Given the description of an element on the screen output the (x, y) to click on. 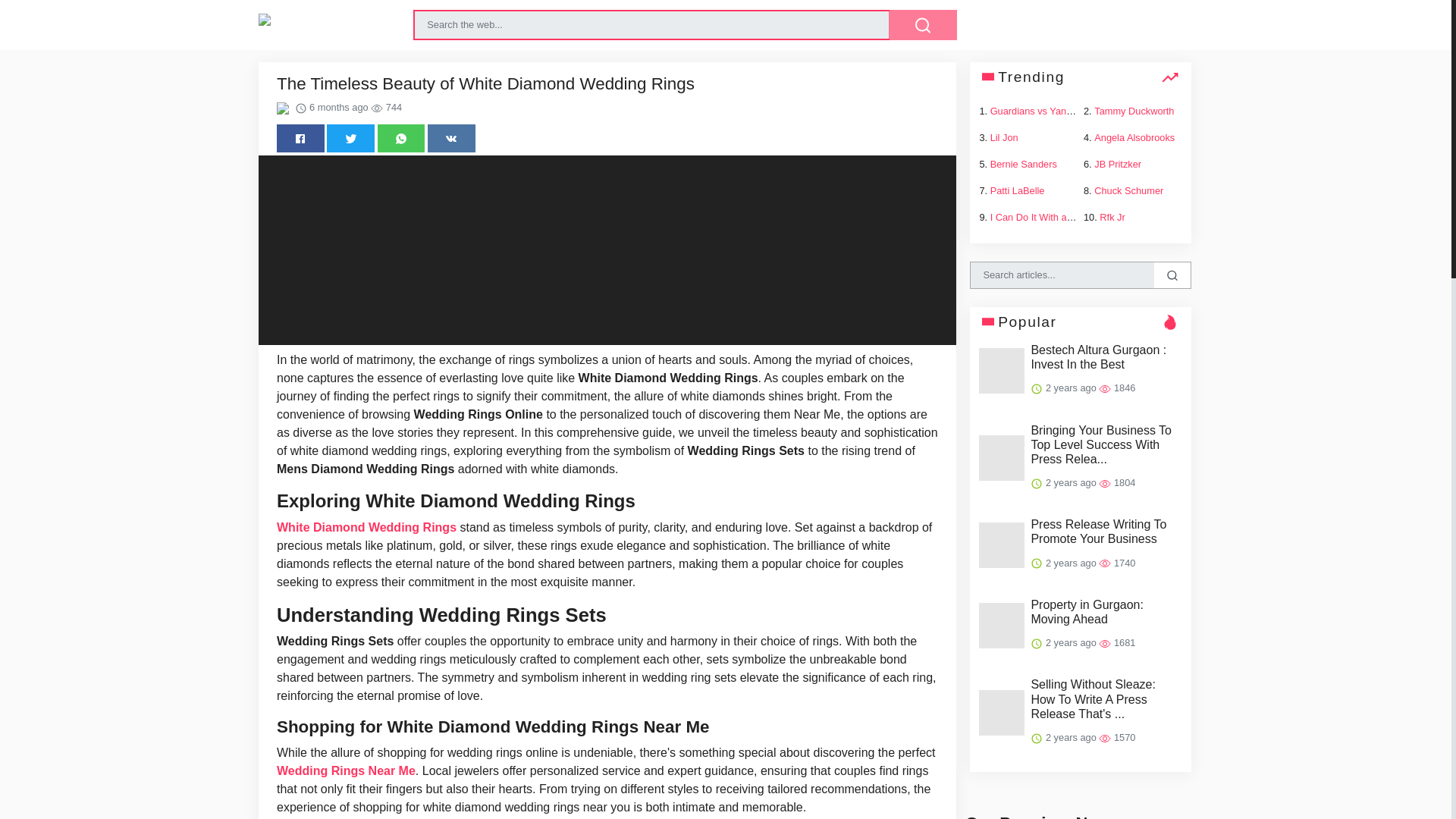
Lil Jon (1003, 137)
Bestech Altura Gurgaon : Invest In the Best (1105, 357)
Share on VK (452, 138)
Wedding Rings Near Me (345, 770)
Tammy Duckworth (1133, 111)
Share on Facebook (300, 138)
White Diamond Wedding Rings (366, 526)
Share on Twitter (350, 138)
Bernie Sanders (1023, 163)
Send via Whatsapp (401, 138)
